Given the description of an element on the screen output the (x, y) to click on. 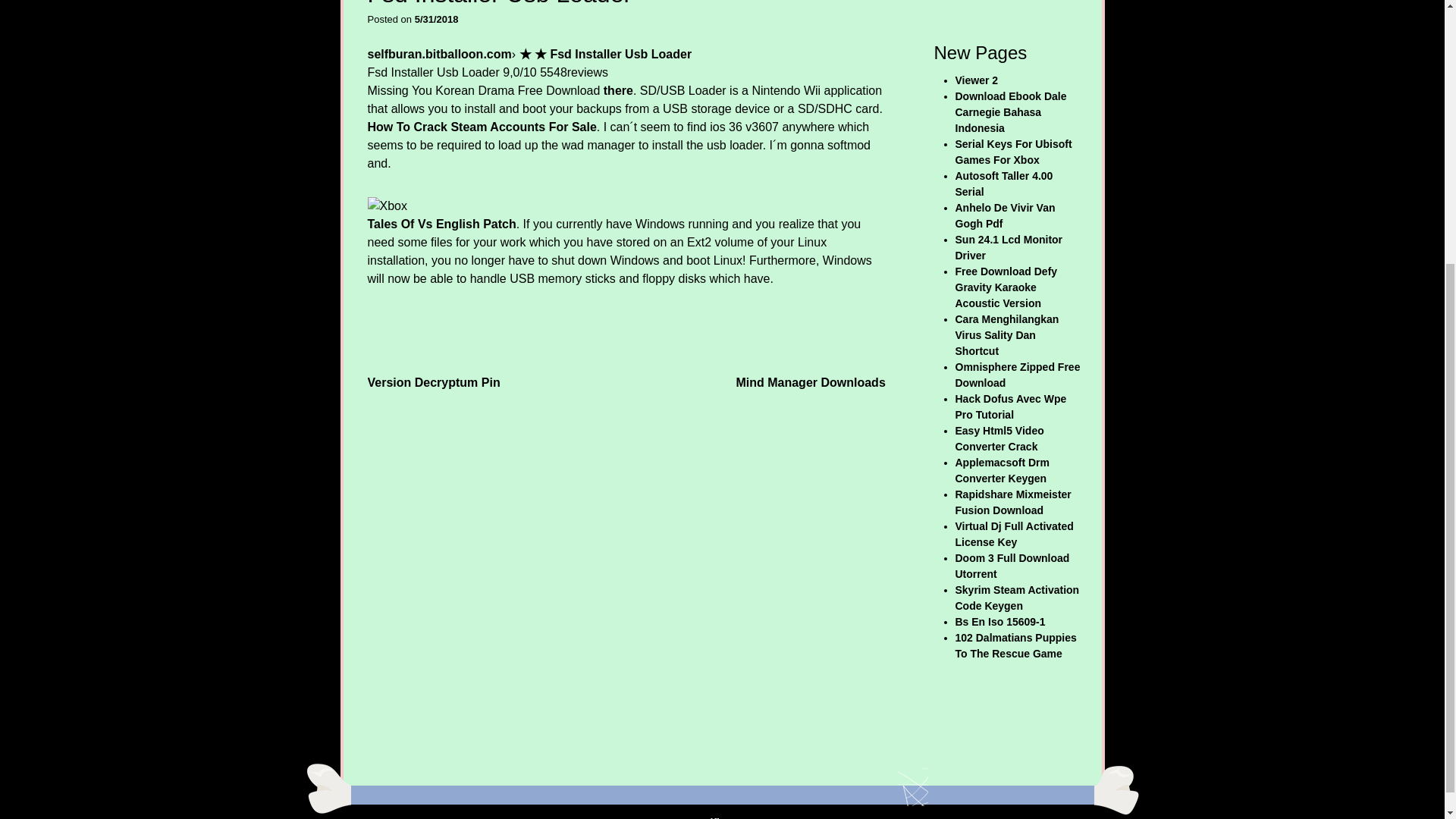
Applemacsoft Drm Converter Keygen (1002, 470)
Tales Of Vs English Patch (440, 223)
Doom 3 Full Download Utorrent (1012, 565)
102 Dalmatians Puppies To The Rescue Game (1016, 645)
selfburan.bitballoon.com (438, 53)
Bs En Iso 15609-1 (1000, 621)
Hack Dofus Avec Wpe Pro Tutorial (1011, 406)
Virtual Dj Full Activated License Key (1014, 533)
Mind Manager Downloads (810, 381)
Rapidshare Mixmeister Fusion Download (1013, 502)
